Given the description of an element on the screen output the (x, y) to click on. 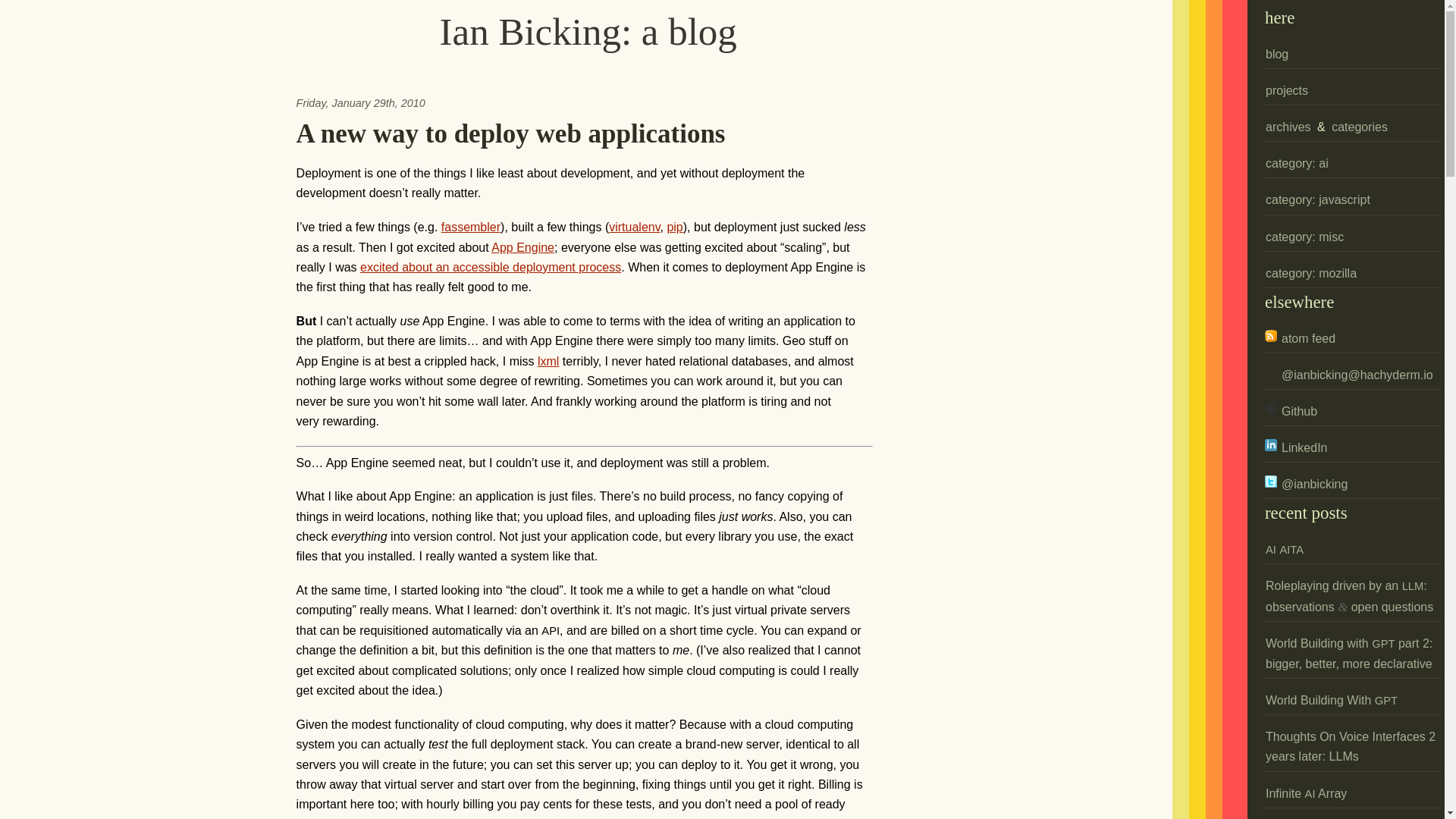
A new way to deploy web applications (511, 133)
atom feed (1300, 338)
recent posts (1306, 512)
Github (1291, 411)
Ian Bicking: a blog (588, 31)
blog (1276, 53)
category: javascript (1317, 200)
lxml (548, 360)
categories (1358, 126)
App Engine (523, 246)
projects (1286, 90)
category: mozilla (1310, 273)
category: misc (1304, 236)
pip (674, 226)
